Given the description of an element on the screen output the (x, y) to click on. 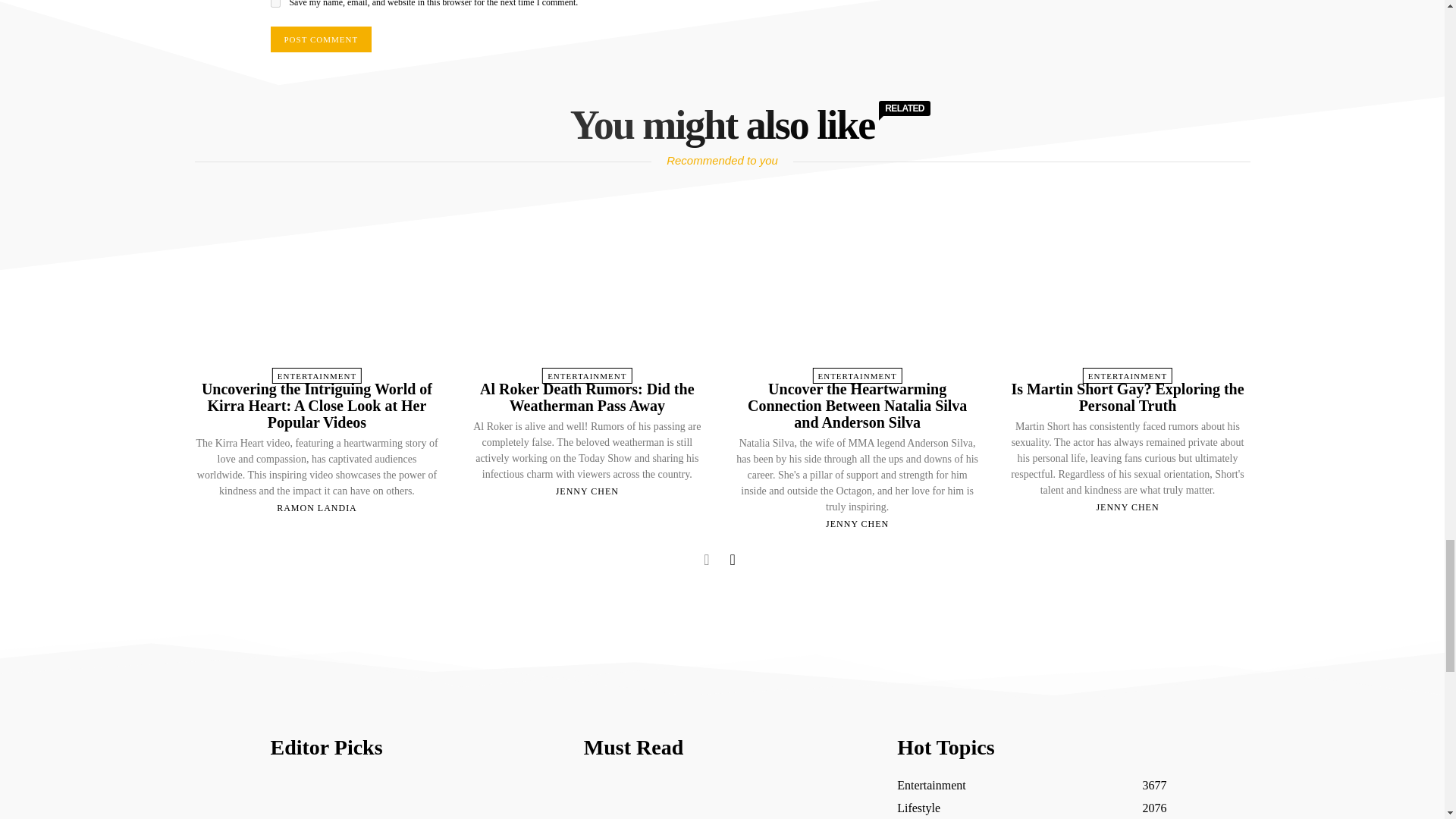
Post Comment (320, 39)
yes (274, 3)
